Given the description of an element on the screen output the (x, y) to click on. 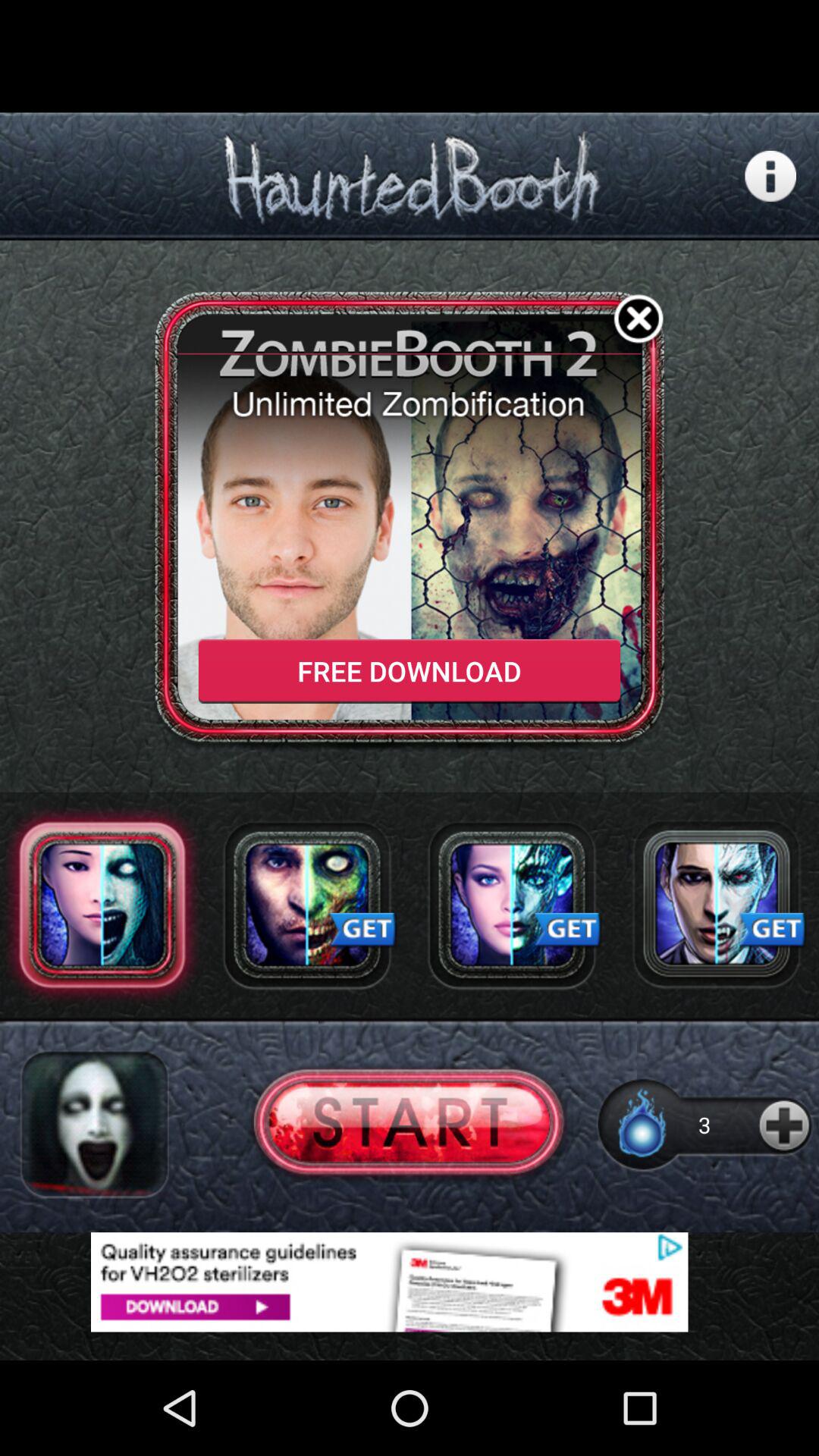
adventisment page (409, 1282)
